Given the description of an element on the screen output the (x, y) to click on. 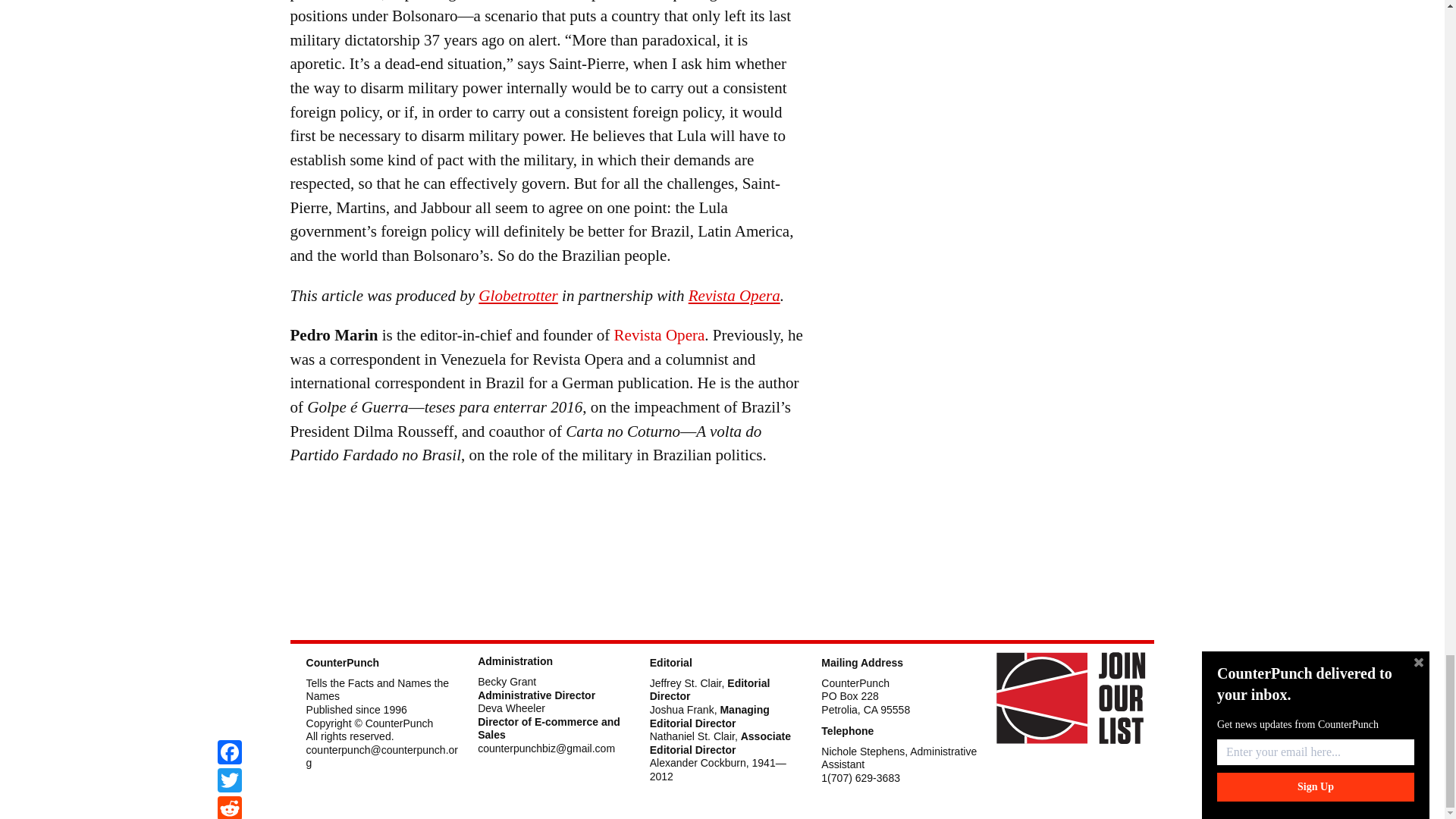
Revista Opera (734, 295)
Globetrotter (518, 295)
